Given the description of an element on the screen output the (x, y) to click on. 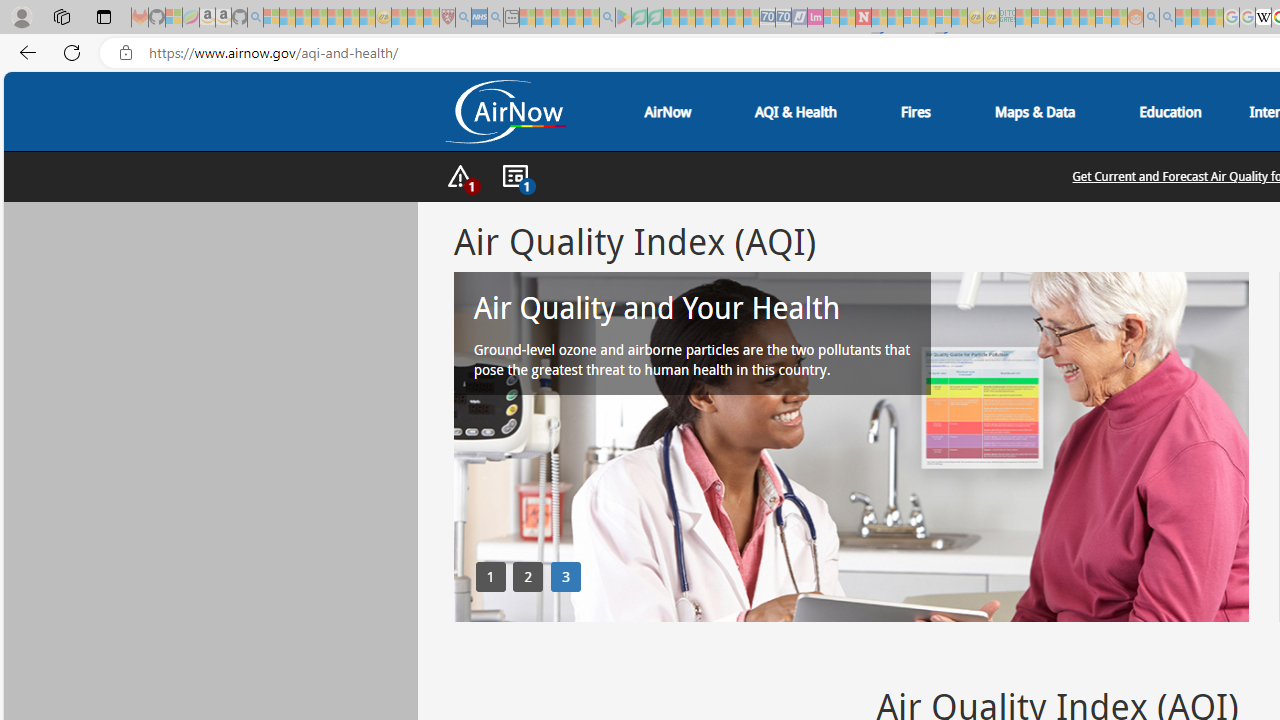
2 (528, 575)
1 (489, 575)
google - Search - Sleeping (607, 17)
Expert Portfolios - Sleeping (1071, 17)
